Given the description of an element on the screen output the (x, y) to click on. 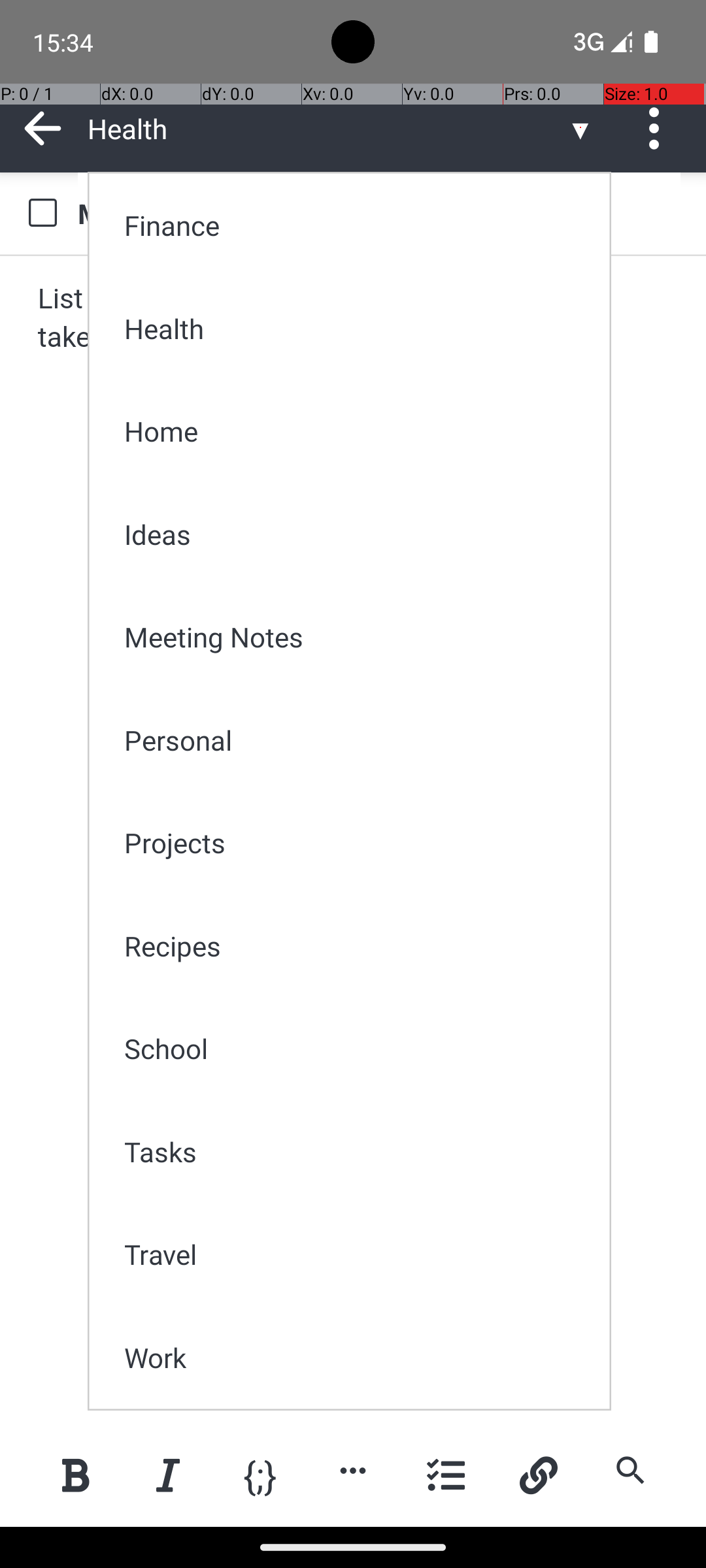
Finance Element type: android.widget.TextView (358, 224)
Health Element type: android.widget.TextView (358, 327)
Ideas Element type: android.widget.TextView (358, 533)
Meeting Notes Element type: android.widget.TextView (358, 636)
Personal Element type: android.widget.TextView (358, 739)
Projects Element type: android.widget.TextView (358, 842)
Recipes Element type: android.widget.TextView (358, 945)
School Element type: android.widget.TextView (358, 1047)
Tasks Element type: android.widget.TextView (358, 1151)
Travel Element type: android.widget.TextView (358, 1253)
Work Element type: android.widget.TextView (358, 1356)
